Given the description of an element on the screen output the (x, y) to click on. 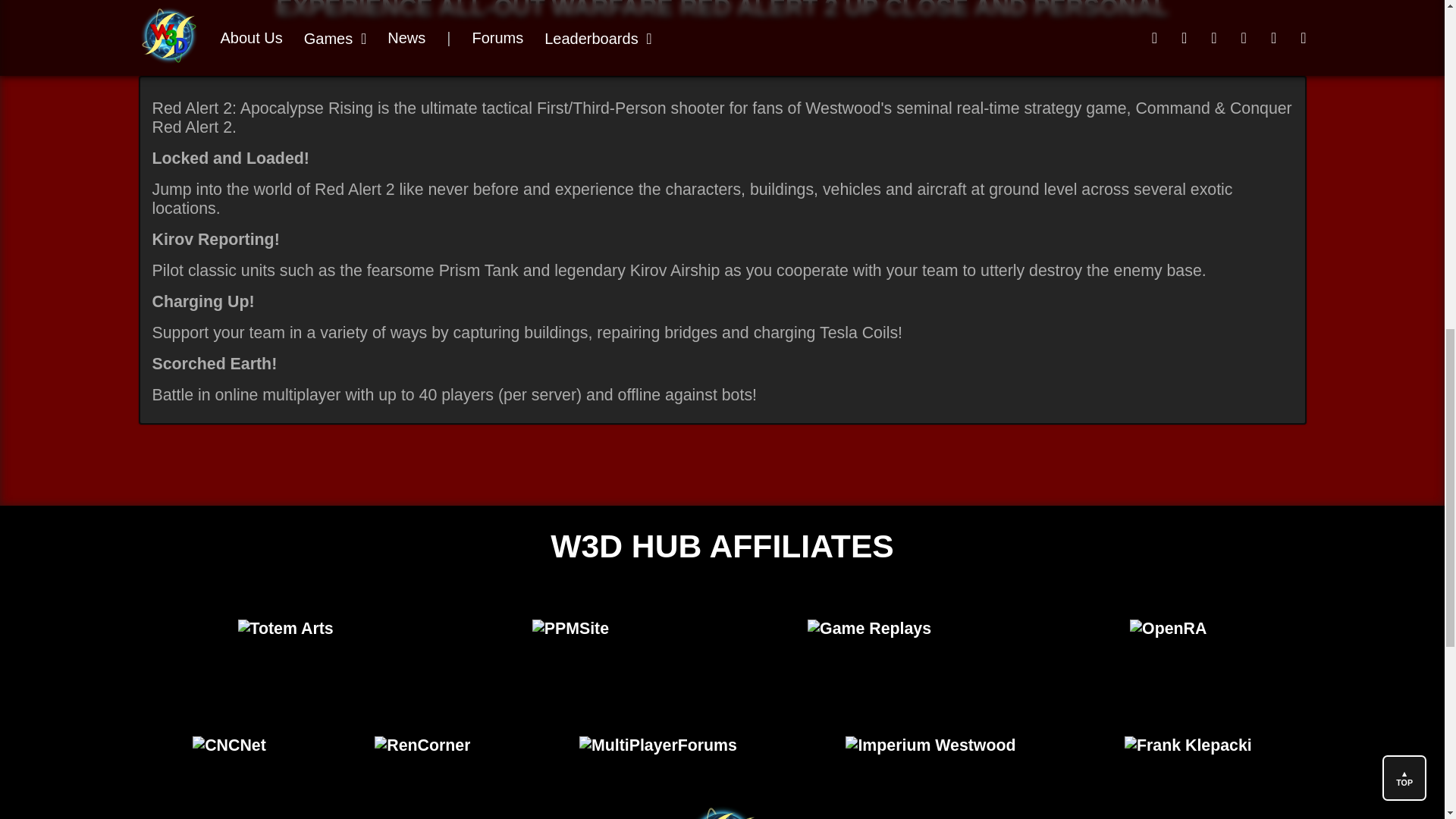
Imperium Westwood (930, 745)
Totem Arts (285, 628)
Game Replays (869, 628)
OpenRA (1168, 628)
MultiPlayerForums (658, 745)
CNCNet (229, 745)
Frank Klepacki (1188, 745)
RenCorner (422, 745)
PPMSite (569, 628)
